Given the description of an element on the screen output the (x, y) to click on. 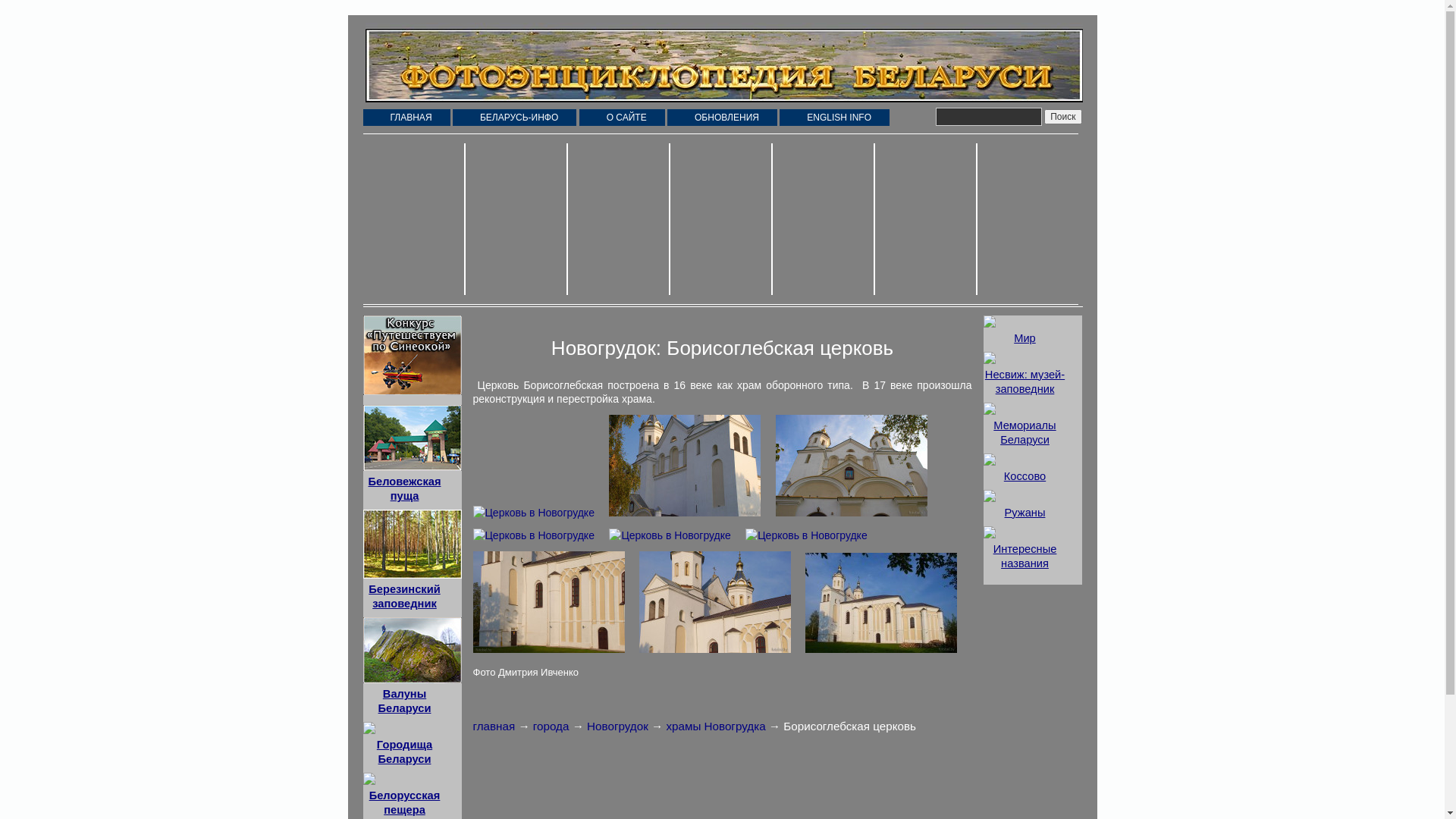
zhivotnye Element type: text (516, 218)
muzei Element type: text (926, 218)
ENGLISH INFO Element type: text (834, 117)
arxitektura Element type: text (721, 218)
kultura Element type: text (1026, 218)
priroda Element type: text (413, 218)
goroda-belarusi Element type: text (618, 218)
turizm Element type: text (822, 218)
